Given the description of an element on the screen output the (x, y) to click on. 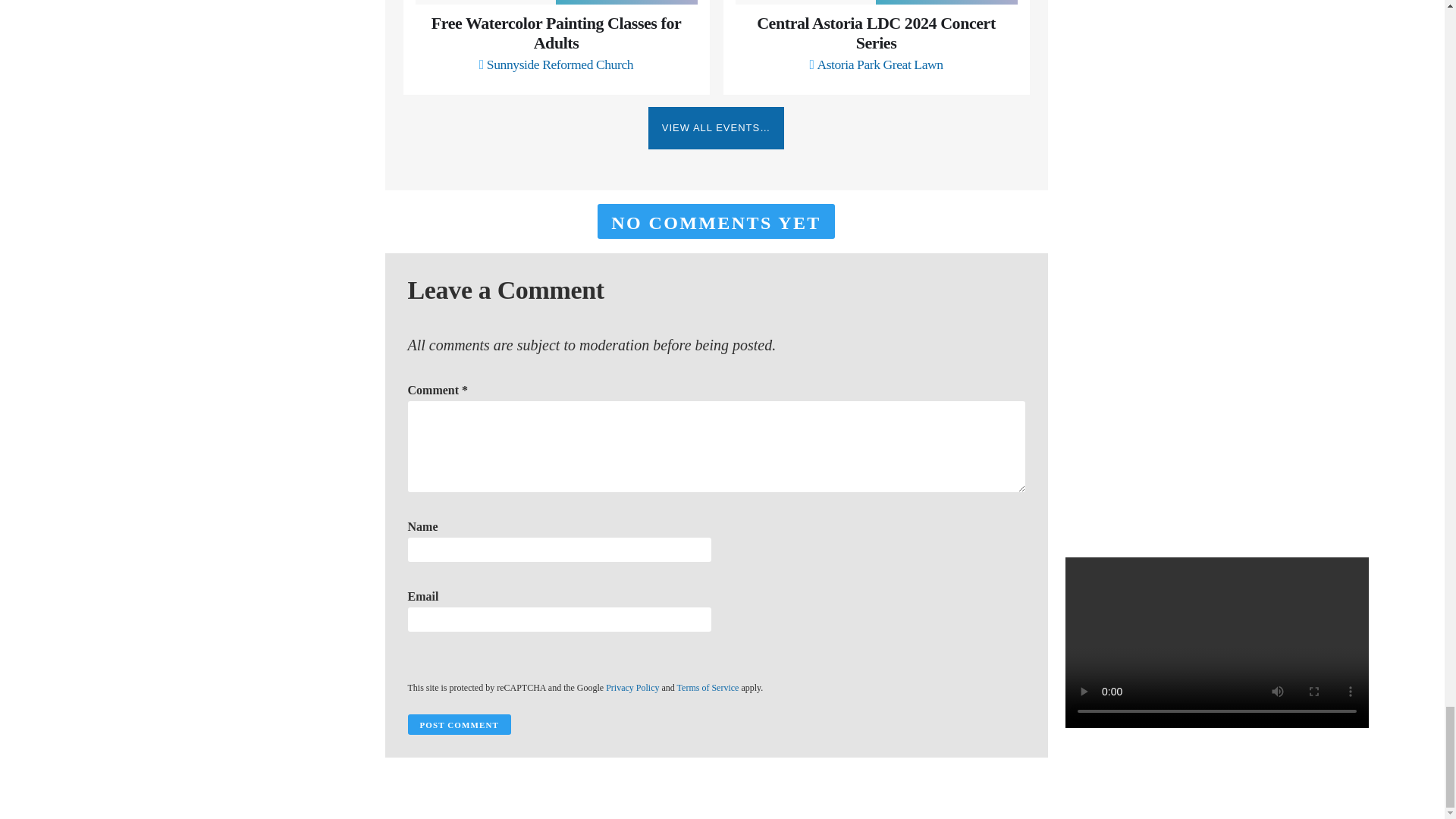
Post Comment (459, 724)
